Given the description of an element on the screen output the (x, y) to click on. 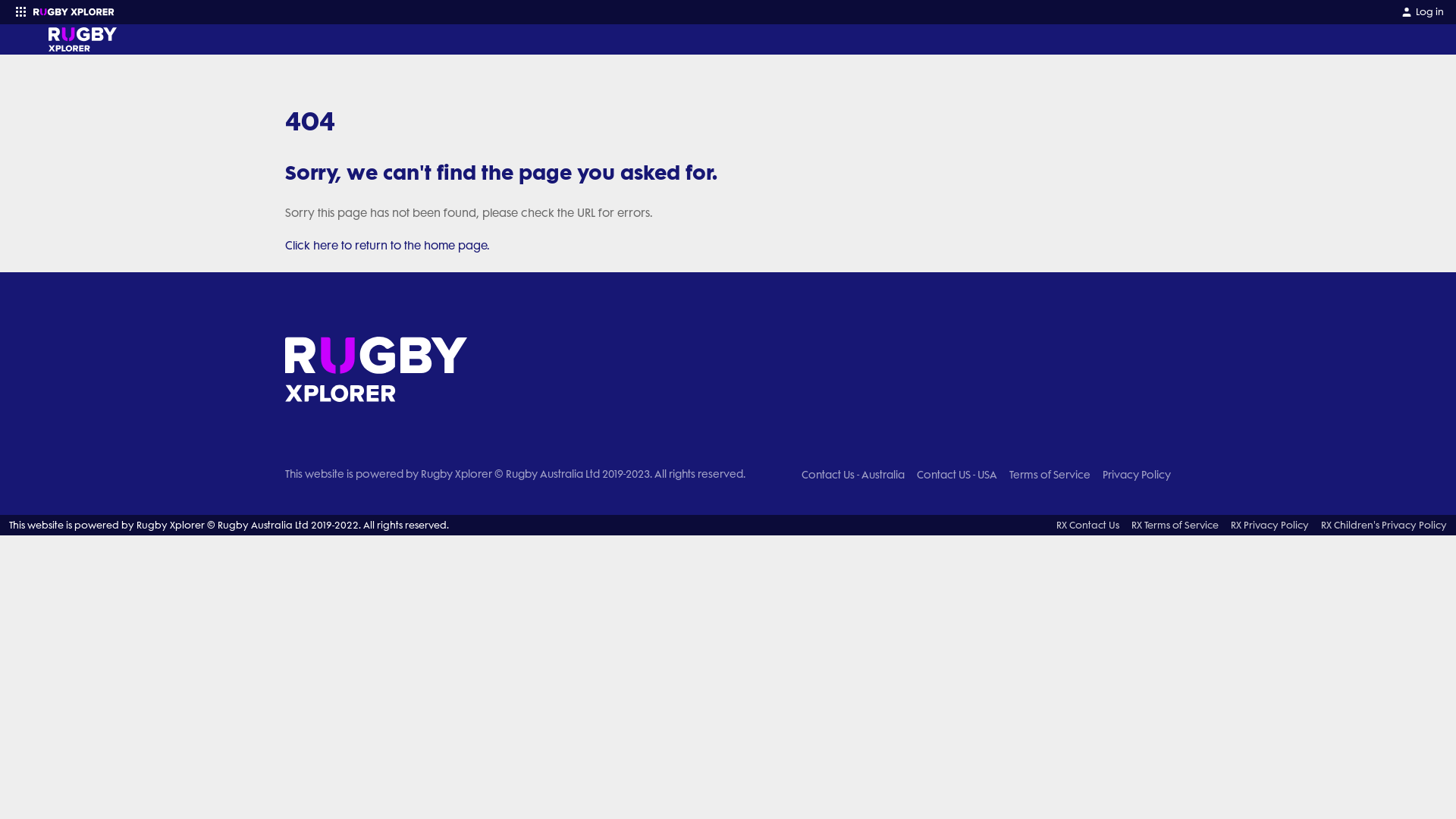
Privacy Policy Element type: text (1136, 474)
Contact US - USA Element type: text (956, 474)
Click here to return to the home page. Element type: text (387, 245)
Log in Element type: text (1421, 12)
Terms of Service Element type: text (1049, 474)
RX Privacy Policy Element type: text (1269, 524)
Contact Us - Australia Element type: text (852, 474)
My Account Element type: hover (1406, 12)
RX Children's Privacy Policy Element type: text (1383, 524)
RX Contact Us Element type: text (1087, 524)
RX Terms of Service Element type: text (1174, 524)
